Given the description of an element on the screen output the (x, y) to click on. 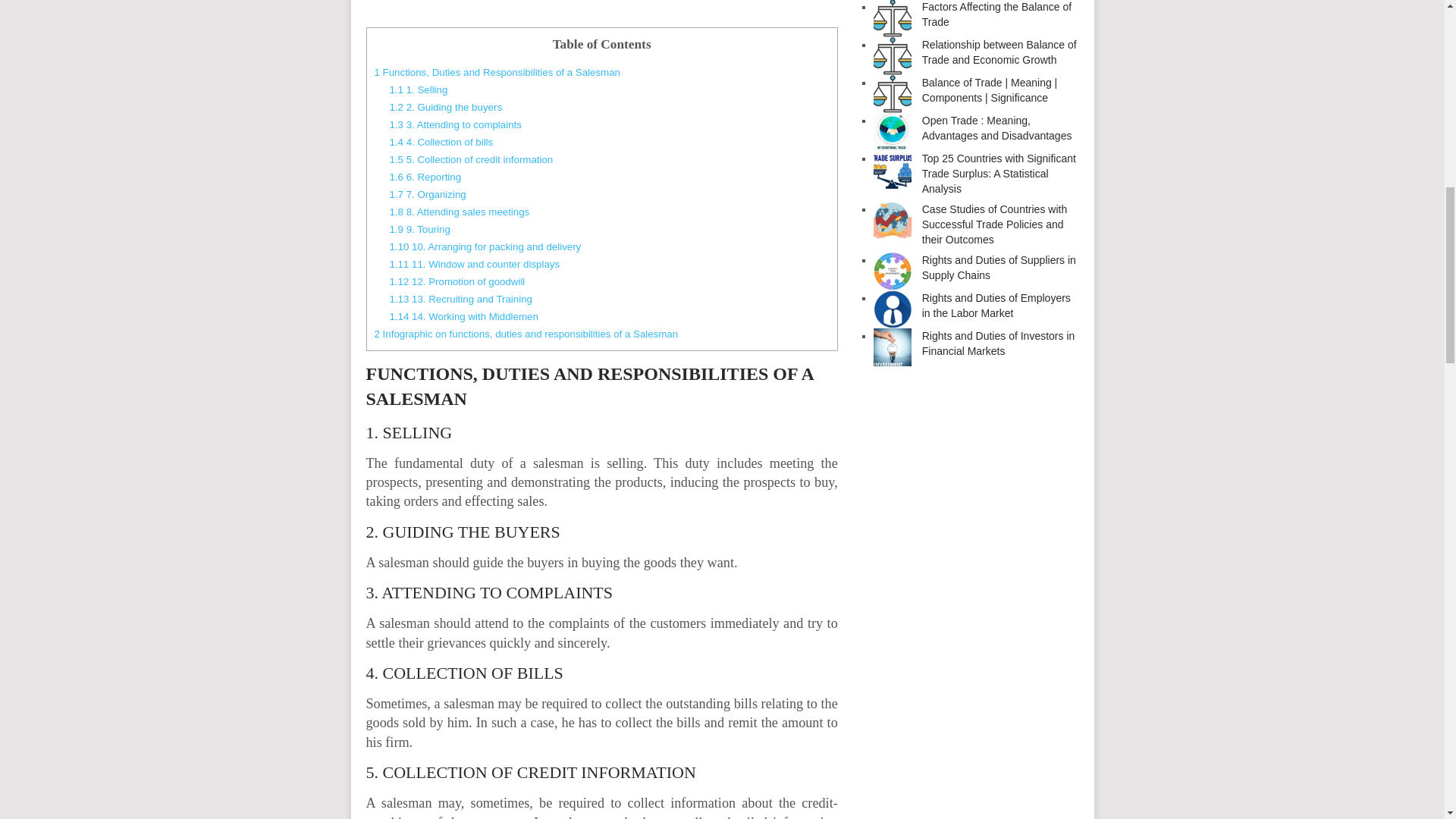
1.13 13. Recruiting and Training (460, 298)
1.5 5. Collection of credit information (470, 159)
1.7 7. Organizing (426, 194)
1.10 10. Arranging for packing and delivery (484, 246)
1.9 9. Touring (418, 229)
1.2 2. Guiding the buyers (445, 107)
1.3 3. Attending to complaints (454, 124)
1.4 4. Collection of bills (440, 142)
1.14 14. Working with Middlemen (462, 316)
1 Functions, Duties and Responsibilities of a Salesman (497, 71)
1.1 1. Selling (417, 89)
1.6 6. Reporting (424, 176)
1.12 12. Promotion of goodwill (456, 281)
1.11 11. Window and counter displays (473, 264)
